Given the description of an element on the screen output the (x, y) to click on. 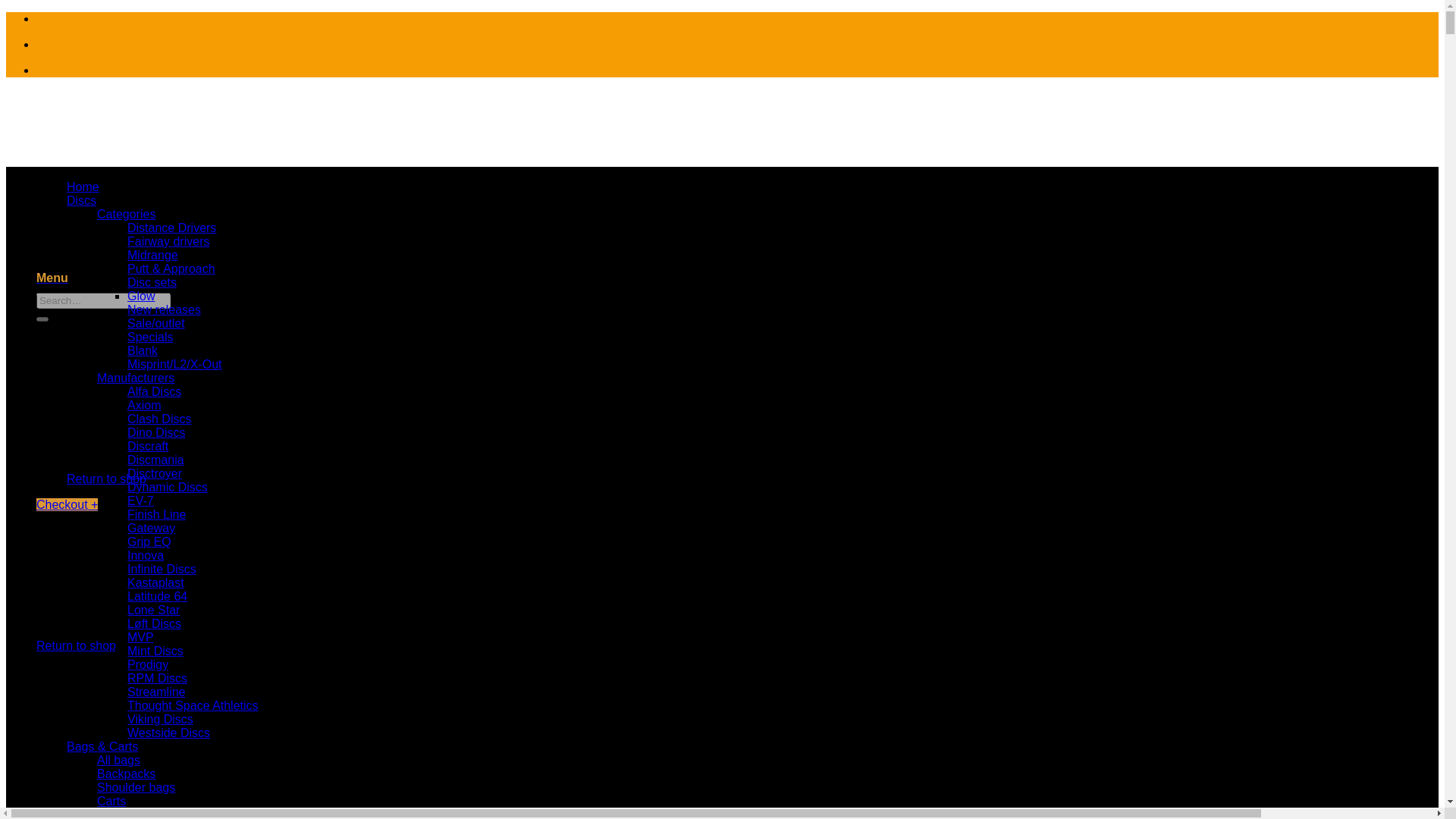
Blank (142, 350)
Categories (126, 214)
Finish Line (157, 513)
Dynamic Discs (168, 486)
Distance Drivers (171, 227)
Discs (81, 200)
Thule discgolf - When quality matters (87, 209)
Disc sets (152, 282)
Clash Discs (159, 418)
Fairway drivers (168, 241)
